Given the description of an element on the screen output the (x, y) to click on. 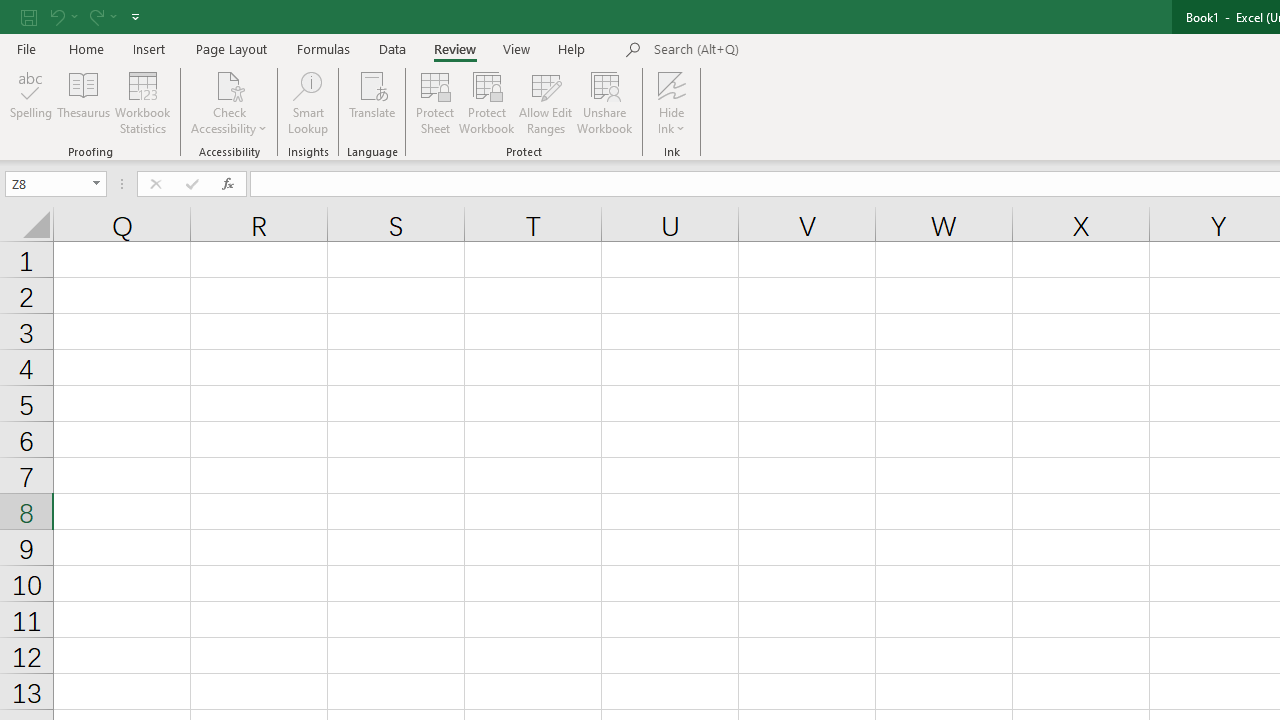
Spelling... (31, 102)
Workbook Statistics (142, 102)
